Given the description of an element on the screen output the (x, y) to click on. 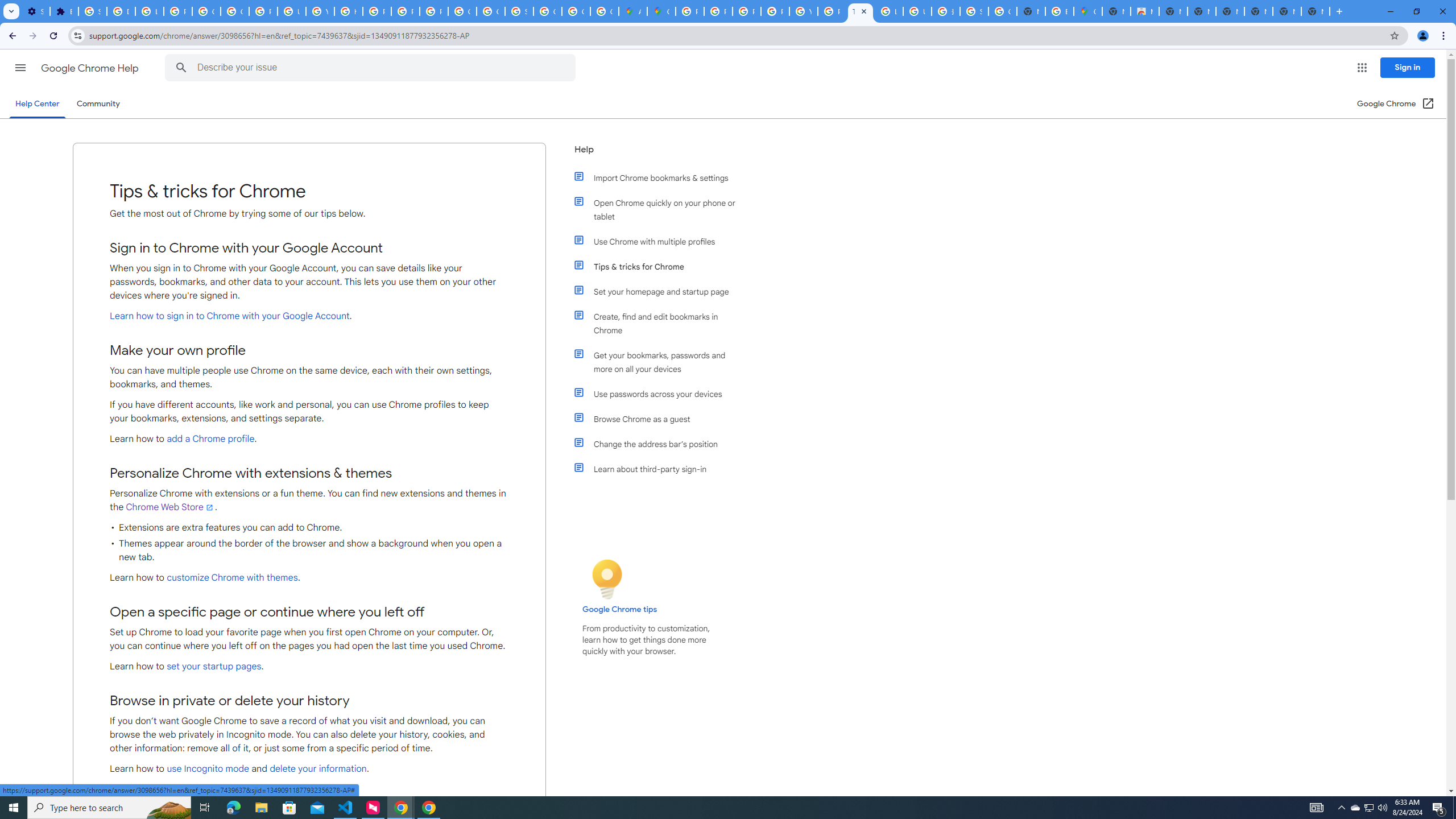
Import Chrome bookmarks & settings (661, 177)
Policy Accountability and Transparency - Transparency Center (690, 11)
New Tab (1315, 11)
Sign in - Google Accounts (518, 11)
YouTube (803, 11)
Learn how to sign in to Chrome with your Google Account (229, 315)
Community (97, 103)
Tips & tricks for Chrome - Google Chrome Help (860, 11)
